Given the description of an element on the screen output the (x, y) to click on. 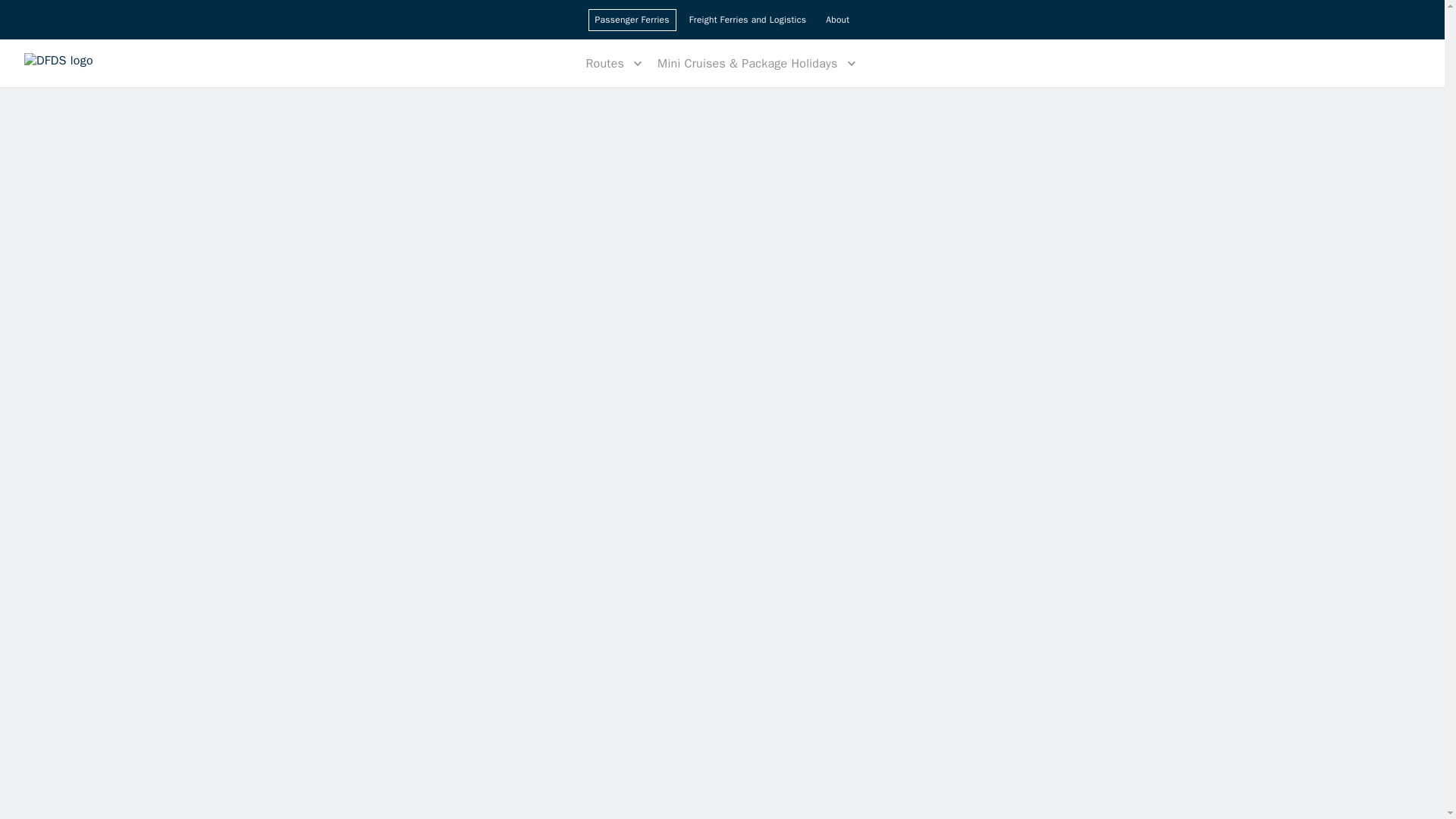
About (837, 20)
Passenger Ferries (632, 20)
Routes (614, 62)
Freight Ferries and Logistics (747, 20)
